Given the description of an element on the screen output the (x, y) to click on. 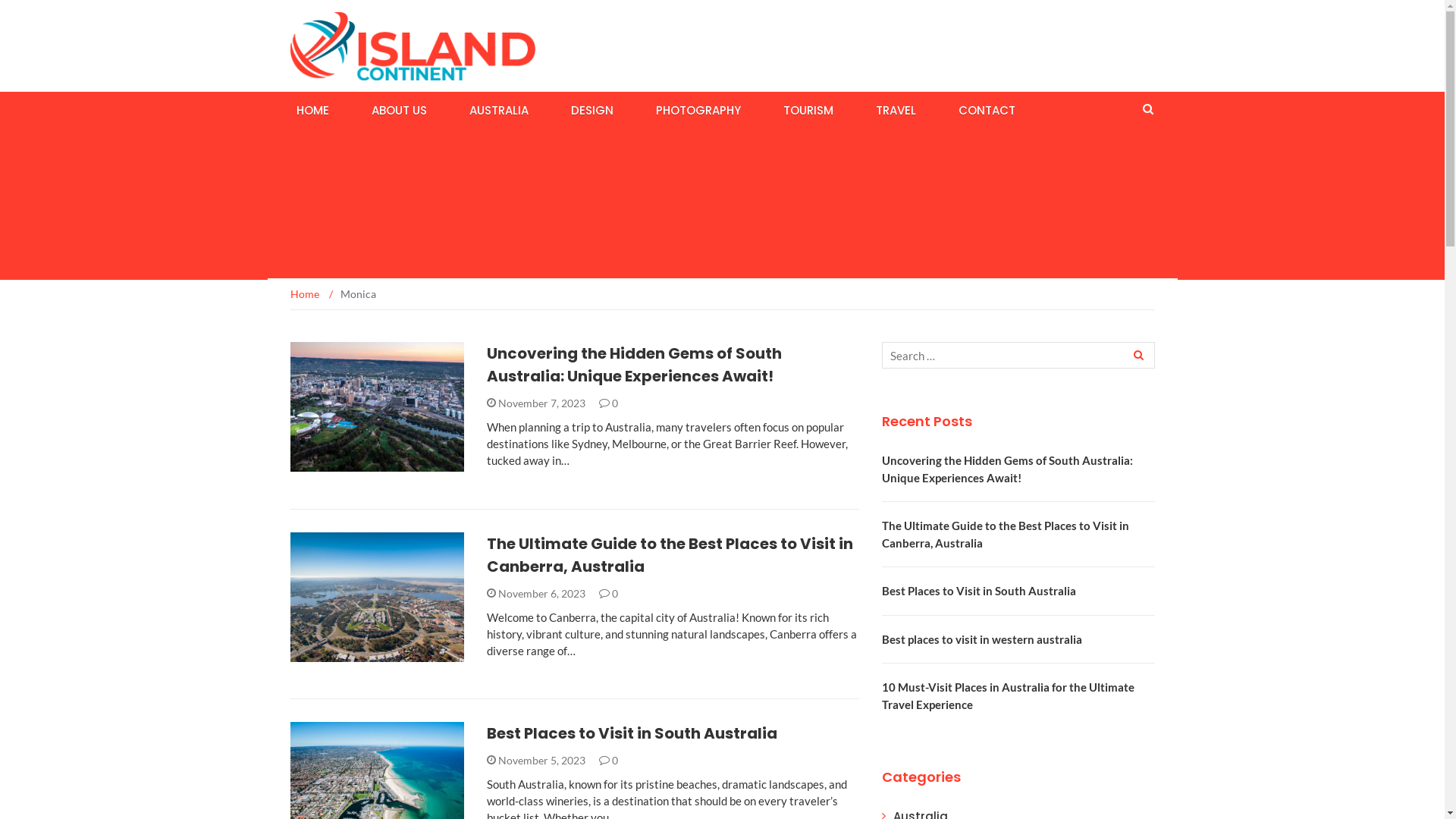
0 Element type: text (608, 759)
Best Places to Visit in South Australia Element type: text (631, 732)
Best places to visit in western australia Element type: text (981, 639)
TOURISM Element type: text (807, 109)
0 Element type: text (608, 592)
Best Places to Visit in South Australia Element type: text (978, 590)
Home Element type: text (304, 293)
ABOUT US Element type: text (399, 109)
TRAVEL Element type: text (895, 109)
AUSTRALIA Element type: text (497, 109)
HOME Element type: text (311, 109)
Search Element type: text (1136, 355)
0 Element type: text (608, 402)
DESIGN Element type: text (591, 109)
CONTACT Element type: text (986, 109)
PHOTOGRAPHY Element type: text (697, 109)
